Given the description of an element on the screen output the (x, y) to click on. 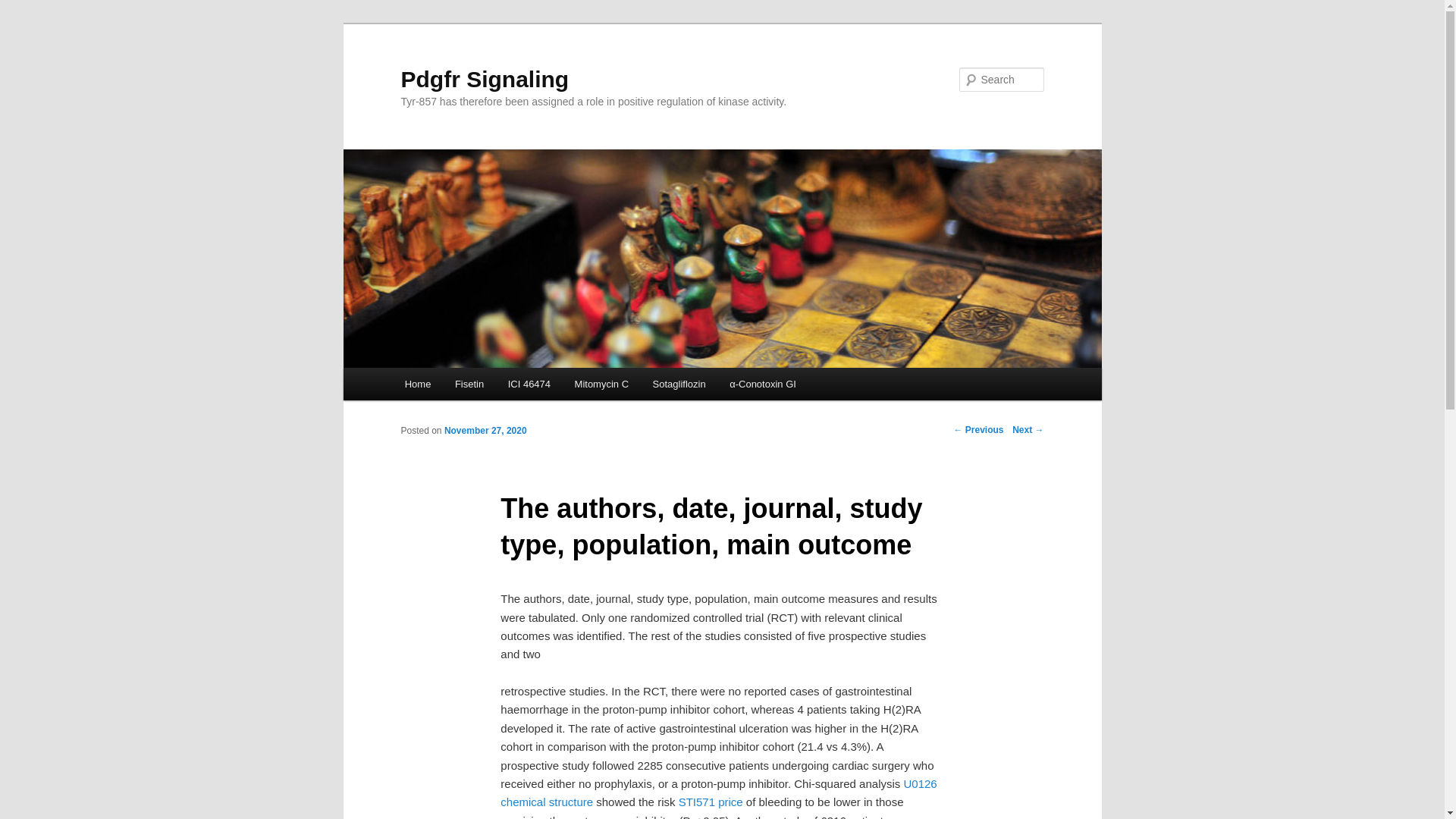
Skip to secondary content (479, 386)
Sotagliflozin (678, 383)
Pdgfr Signaling (484, 78)
Home (417, 383)
2:41 am (485, 430)
Skip to primary content (472, 386)
Fisetin (469, 383)
November 27, 2020 (485, 430)
Skip to secondary content (479, 386)
Pdgfr Signaling (484, 78)
Search (24, 8)
Skip to primary content (472, 386)
Home (417, 383)
STI571 price (710, 801)
Mitomycin C (601, 383)
